Given the description of an element on the screen output the (x, y) to click on. 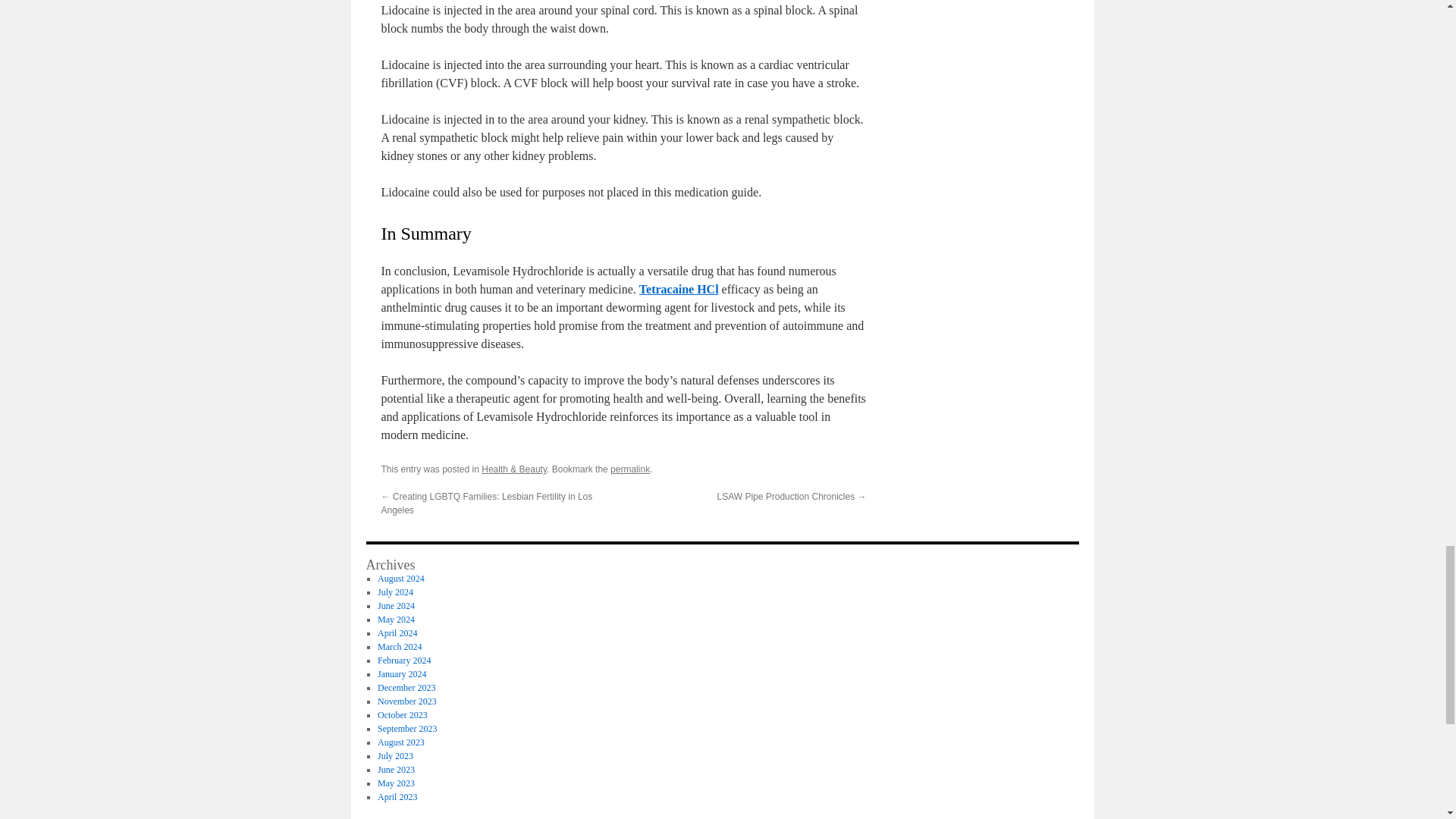
May 2024 (395, 619)
May 2023 (395, 783)
September 2023 (406, 728)
Tetracaine HCl (679, 288)
permalink (629, 469)
June 2023 (395, 769)
October 2023 (402, 715)
July 2023 (395, 756)
March 2024 (399, 646)
